Given the description of an element on the screen output the (x, y) to click on. 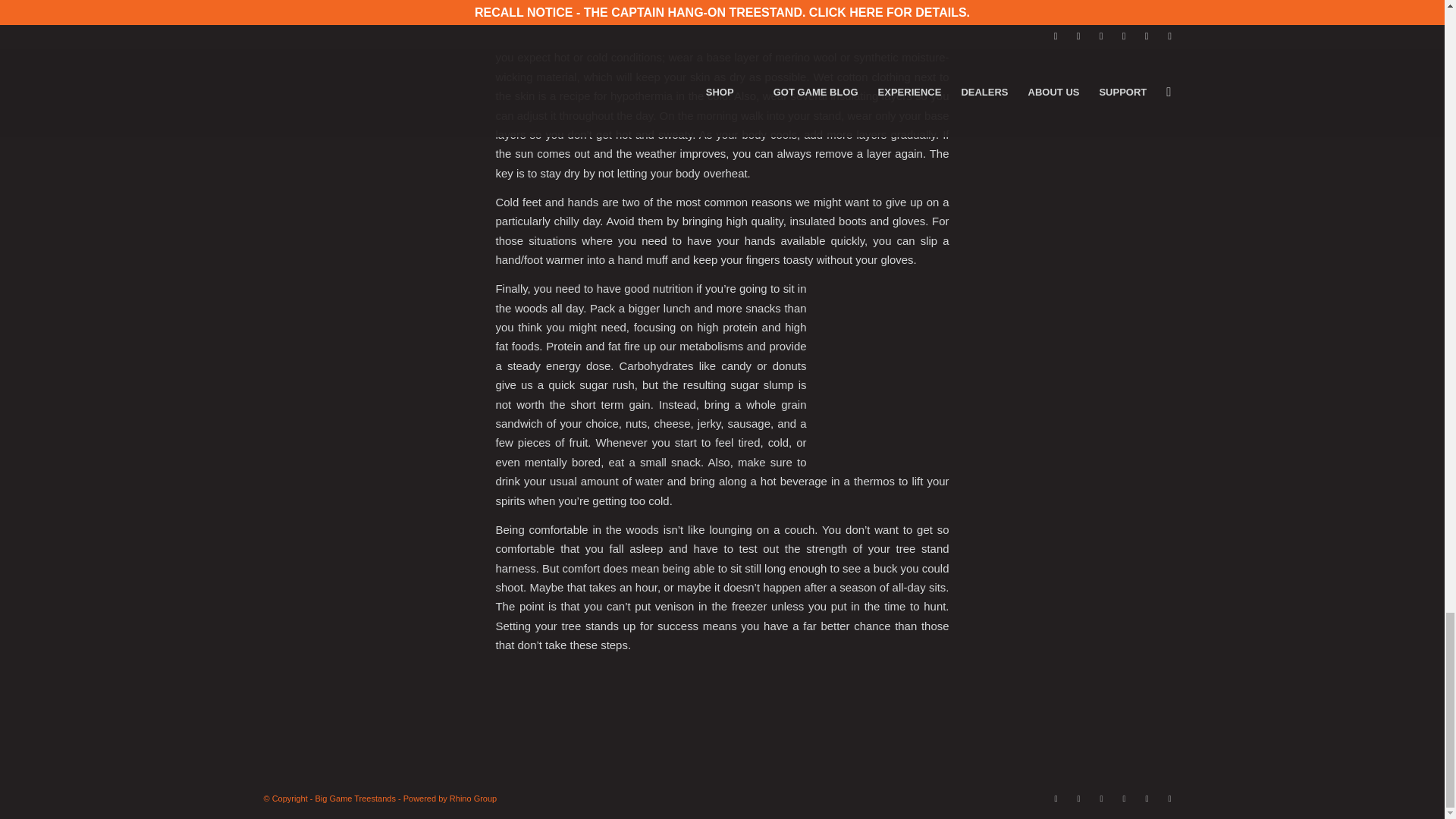
Gplus (1169, 798)
Pinterest (1124, 798)
Facebook (1056, 798)
Youtube (1146, 798)
Instagram (1101, 798)
Twitter (1078, 798)
